Given the description of an element on the screen output the (x, y) to click on. 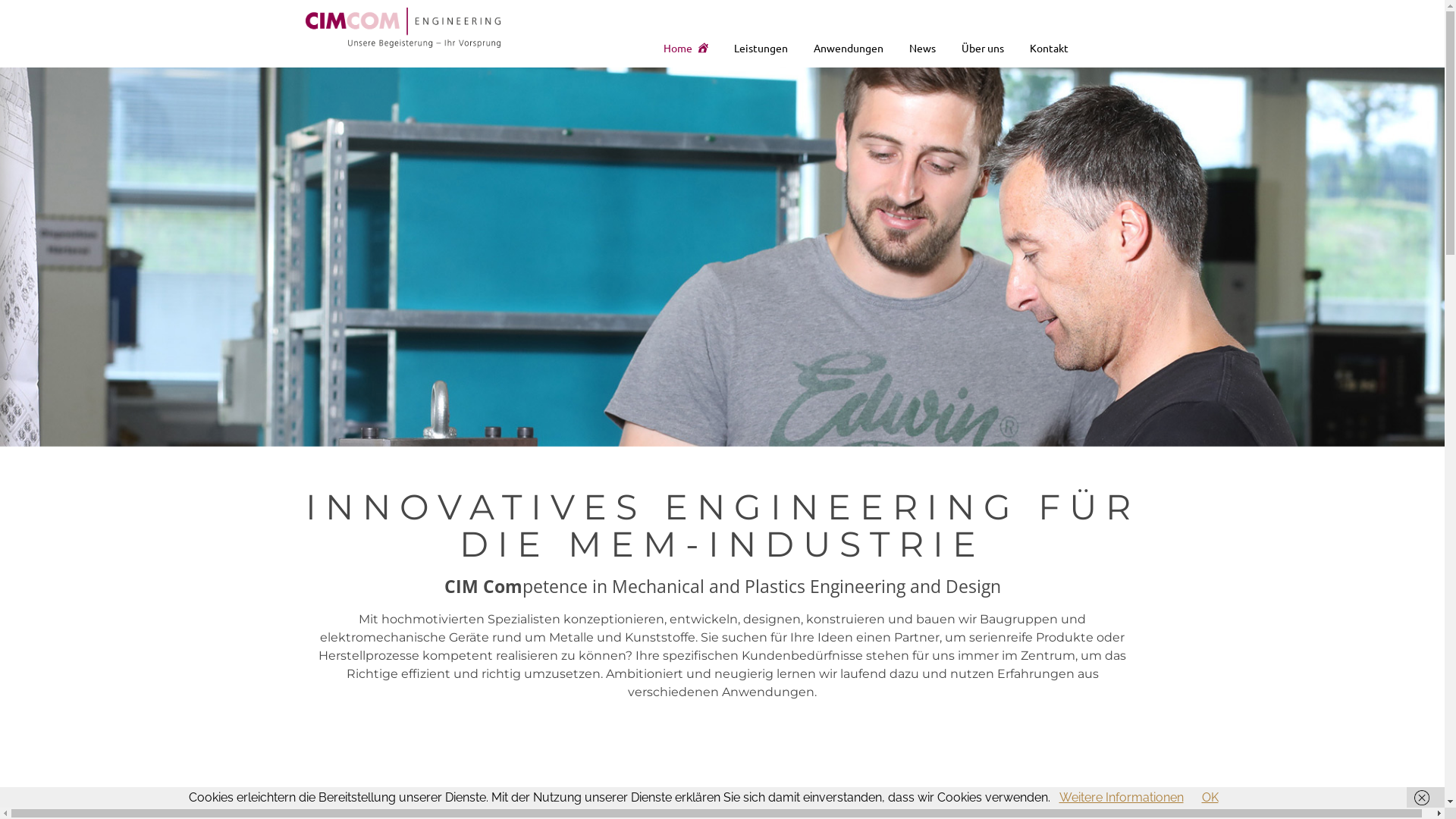
News Element type: text (922, 47)
Home Element type: text (685, 47)
Leistungen Element type: text (760, 47)
Kontakt Element type: text (1048, 47)
Anwendungen Element type: text (848, 47)
OK Element type: text (1209, 797)
Weitere Informationen Element type: text (1120, 797)
